Given the description of an element on the screen output the (x, y) to click on. 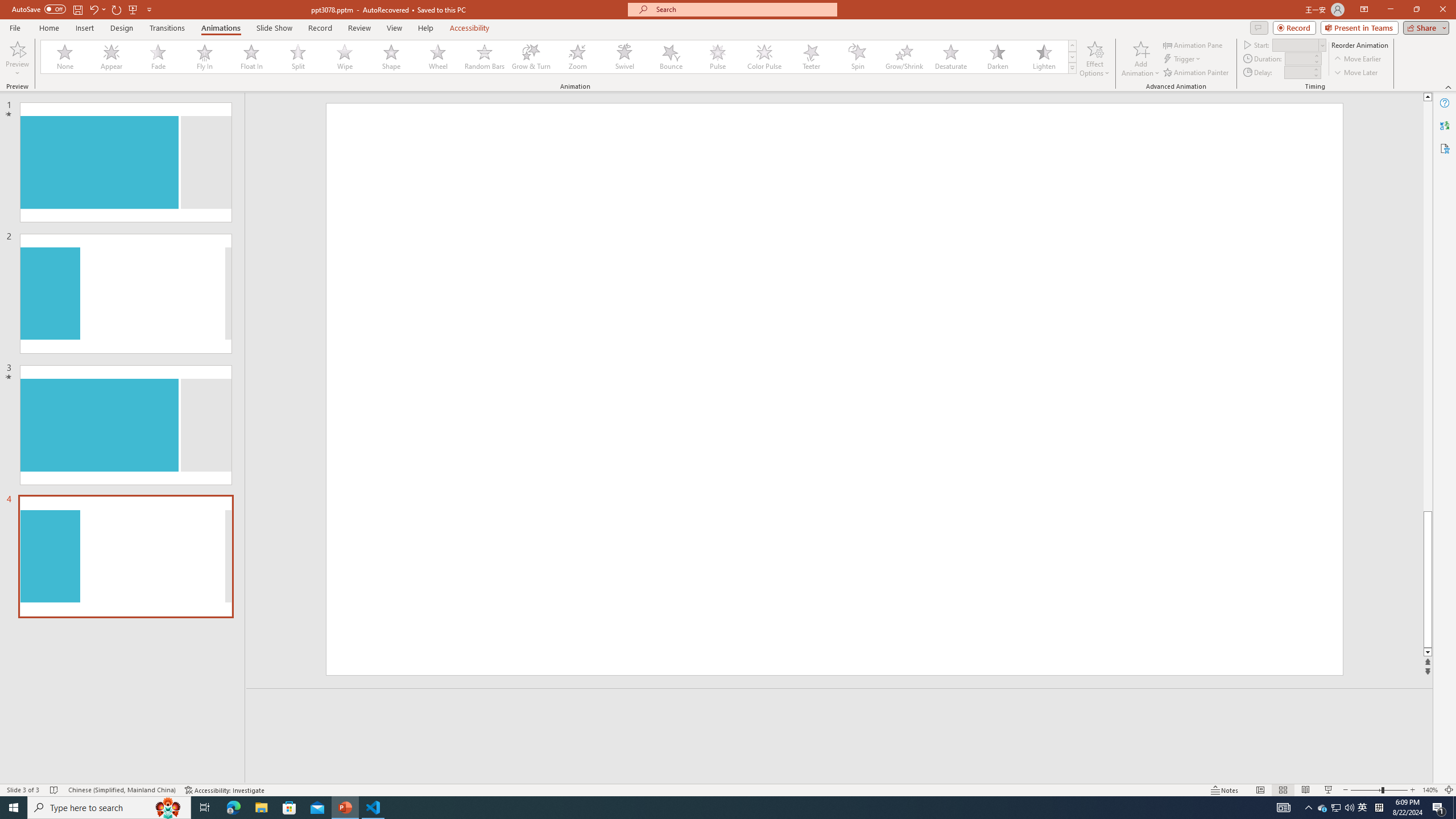
Fade (158, 56)
